Given the description of an element on the screen output the (x, y) to click on. 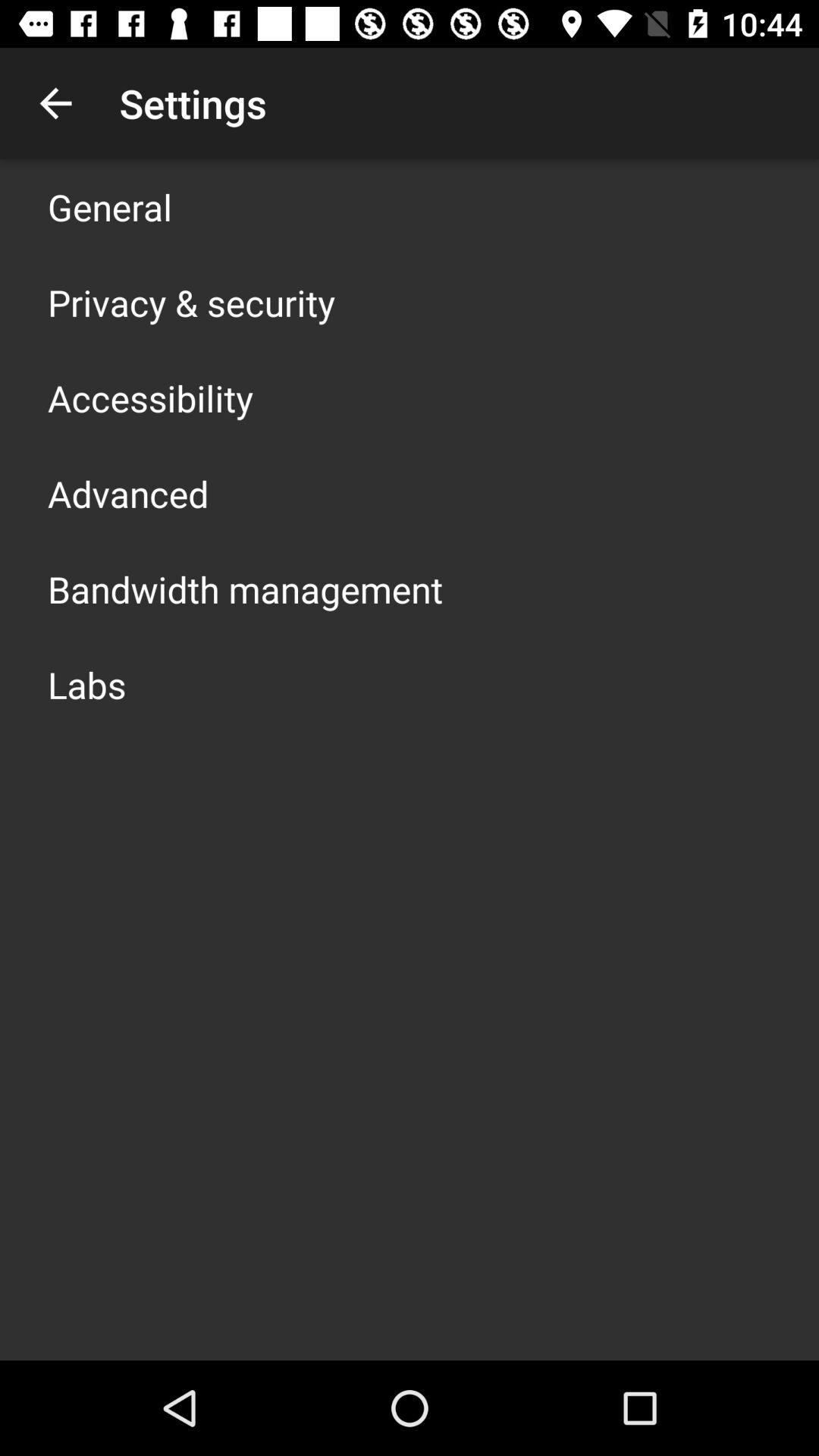
scroll until accessibility (150, 397)
